Given the description of an element on the screen output the (x, y) to click on. 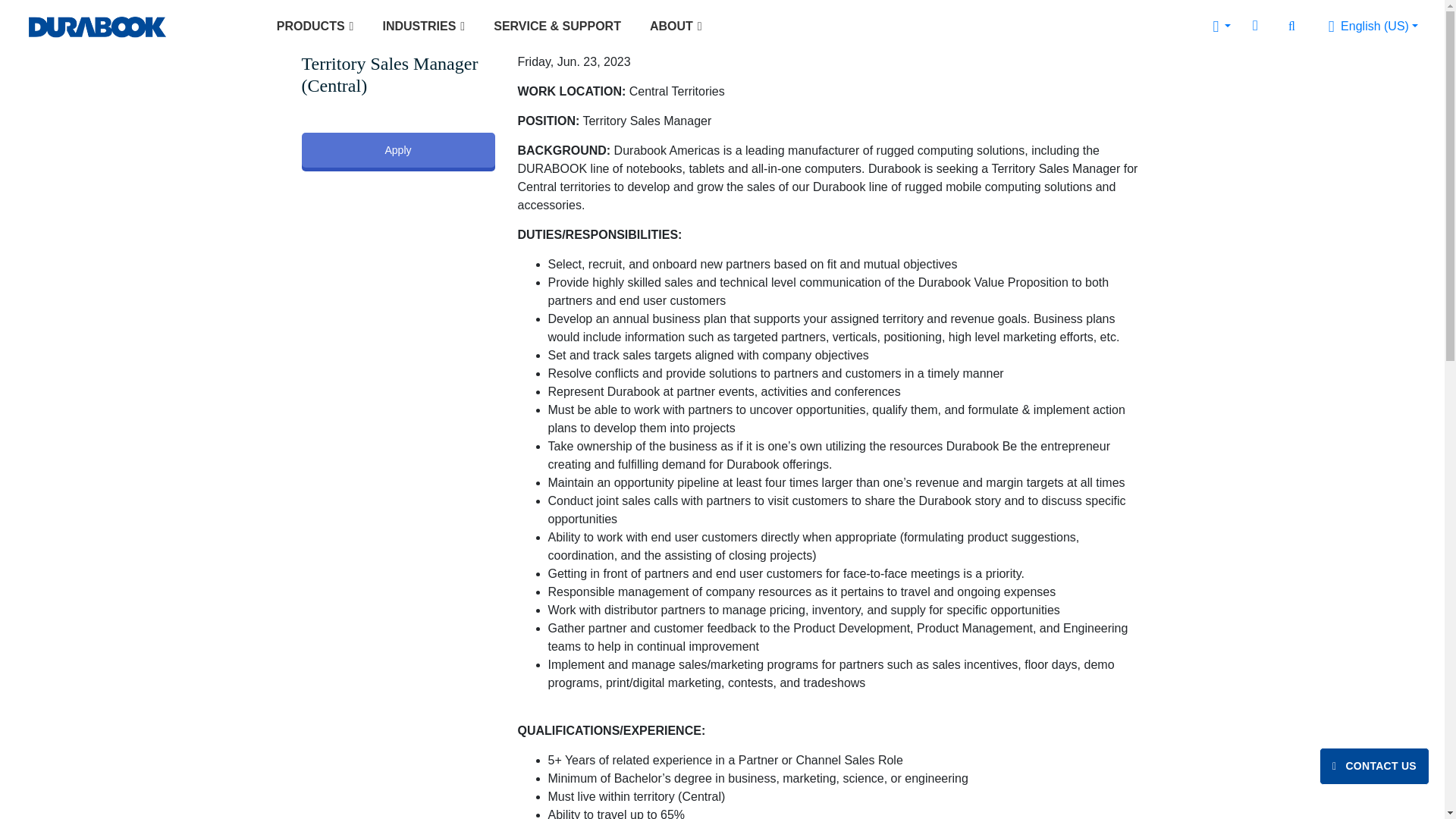
INDUSTRIES (422, 25)
PRODUCTS (315, 25)
